Given the description of an element on the screen output the (x, y) to click on. 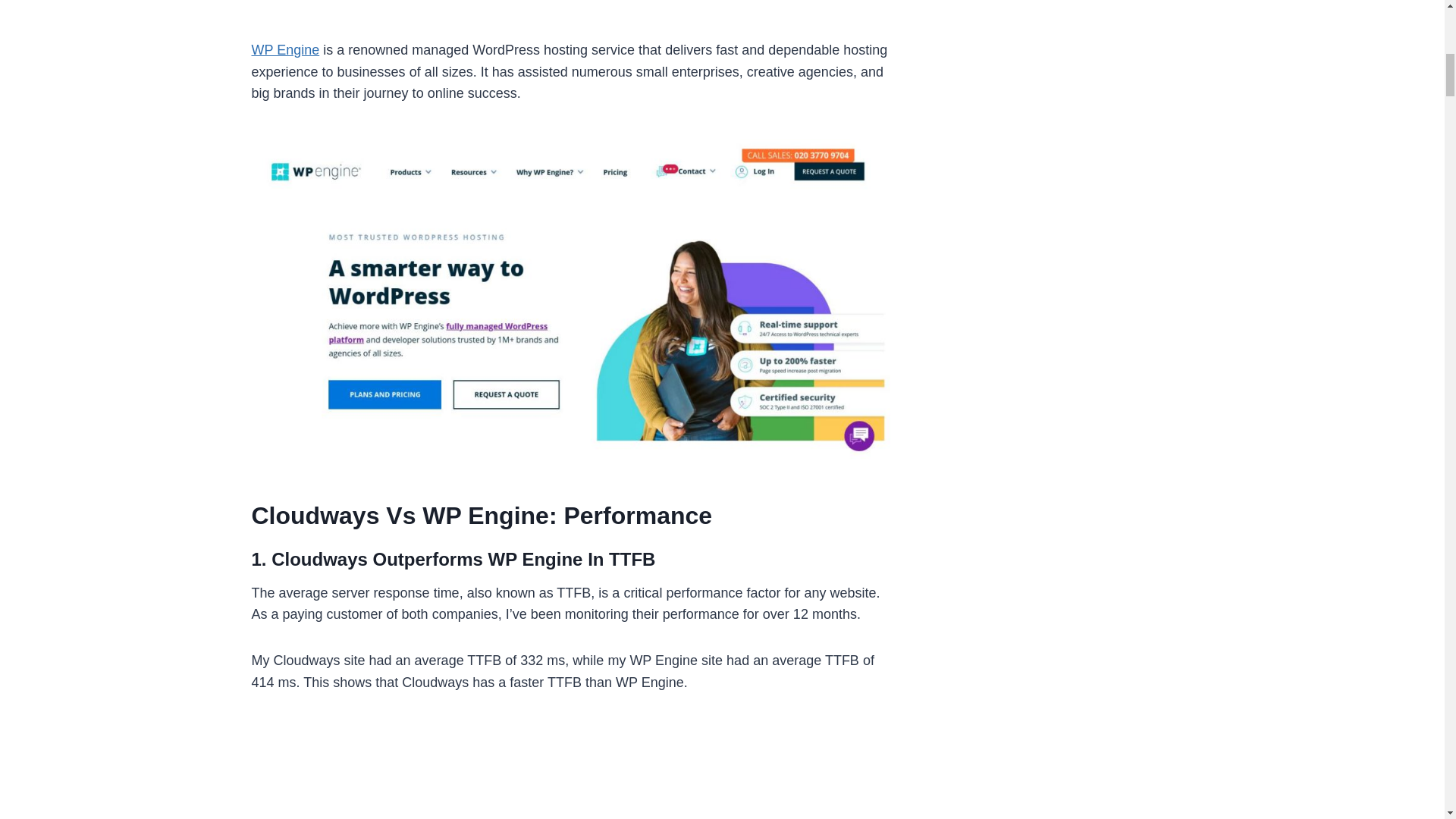
WP Engine (285, 49)
